Given the description of an element on the screen output the (x, y) to click on. 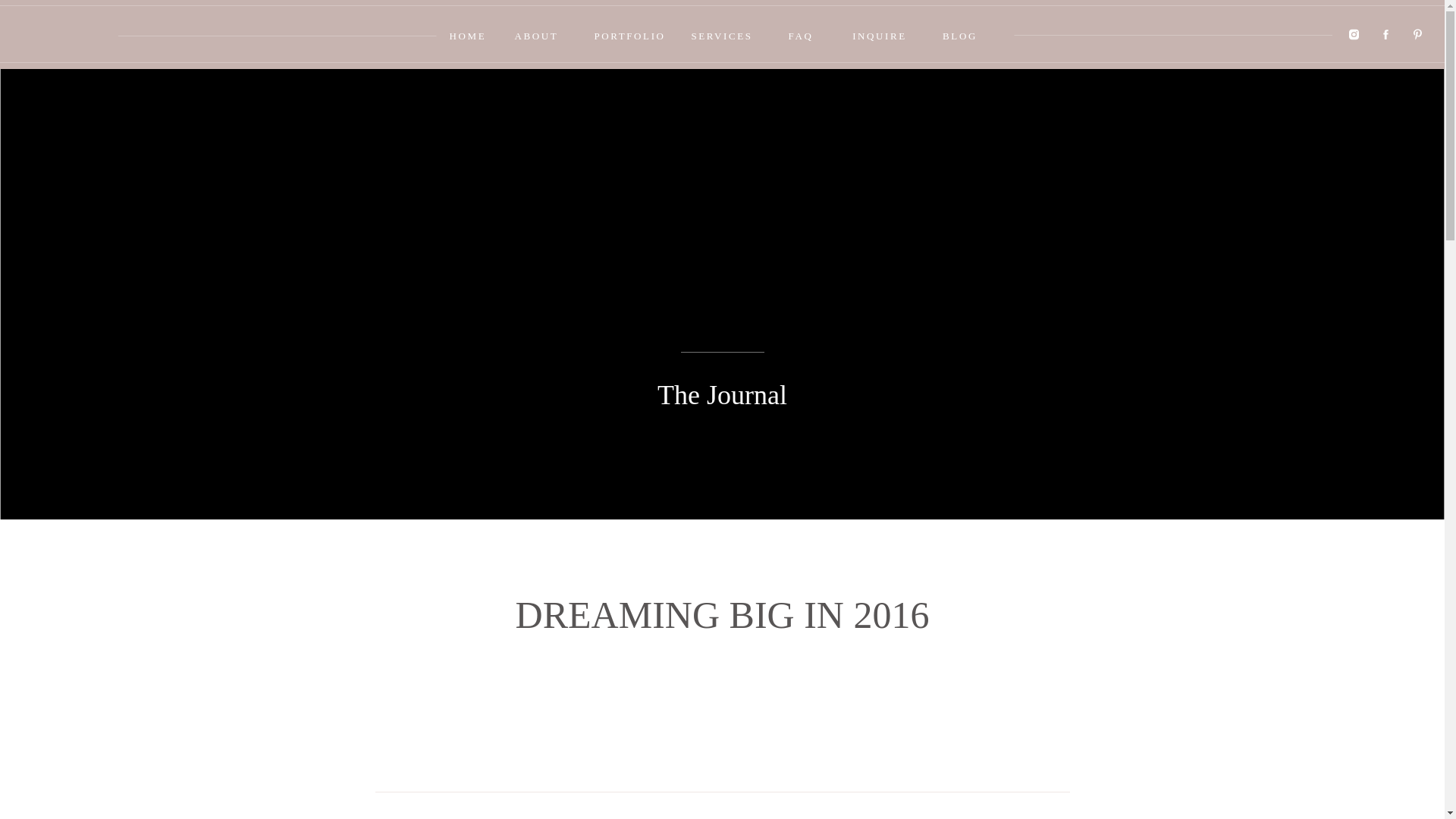
HOME (466, 34)
ABOUT (536, 34)
PORTFOLIO (629, 34)
BLOG (959, 34)
FAQ (799, 34)
SERVICES (722, 34)
INQUIRE (879, 34)
